Given the description of an element on the screen output the (x, y) to click on. 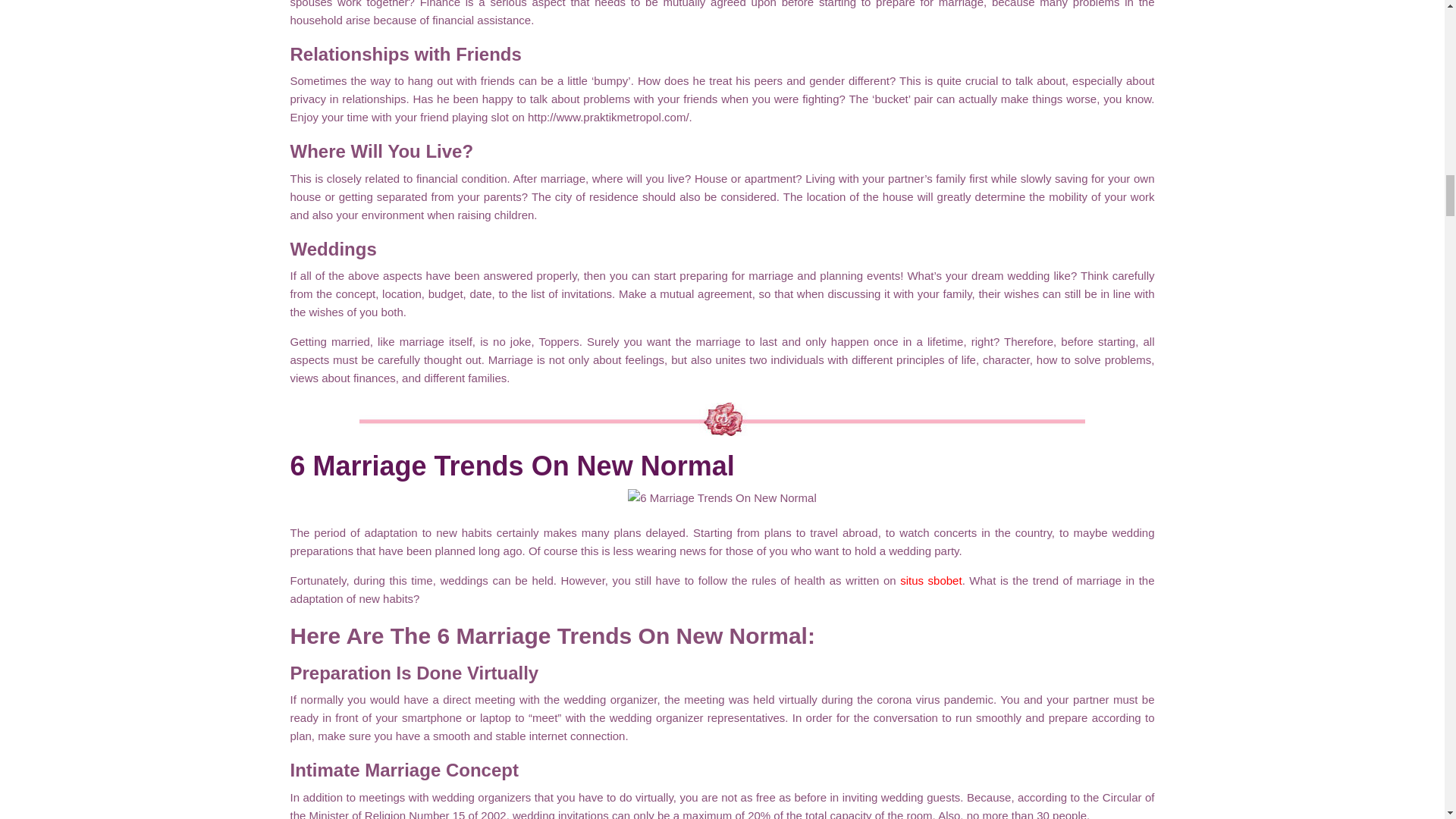
6 Marriage Trends On New Normal (511, 465)
situs sbobet (929, 580)
